Given the description of an element on the screen output the (x, y) to click on. 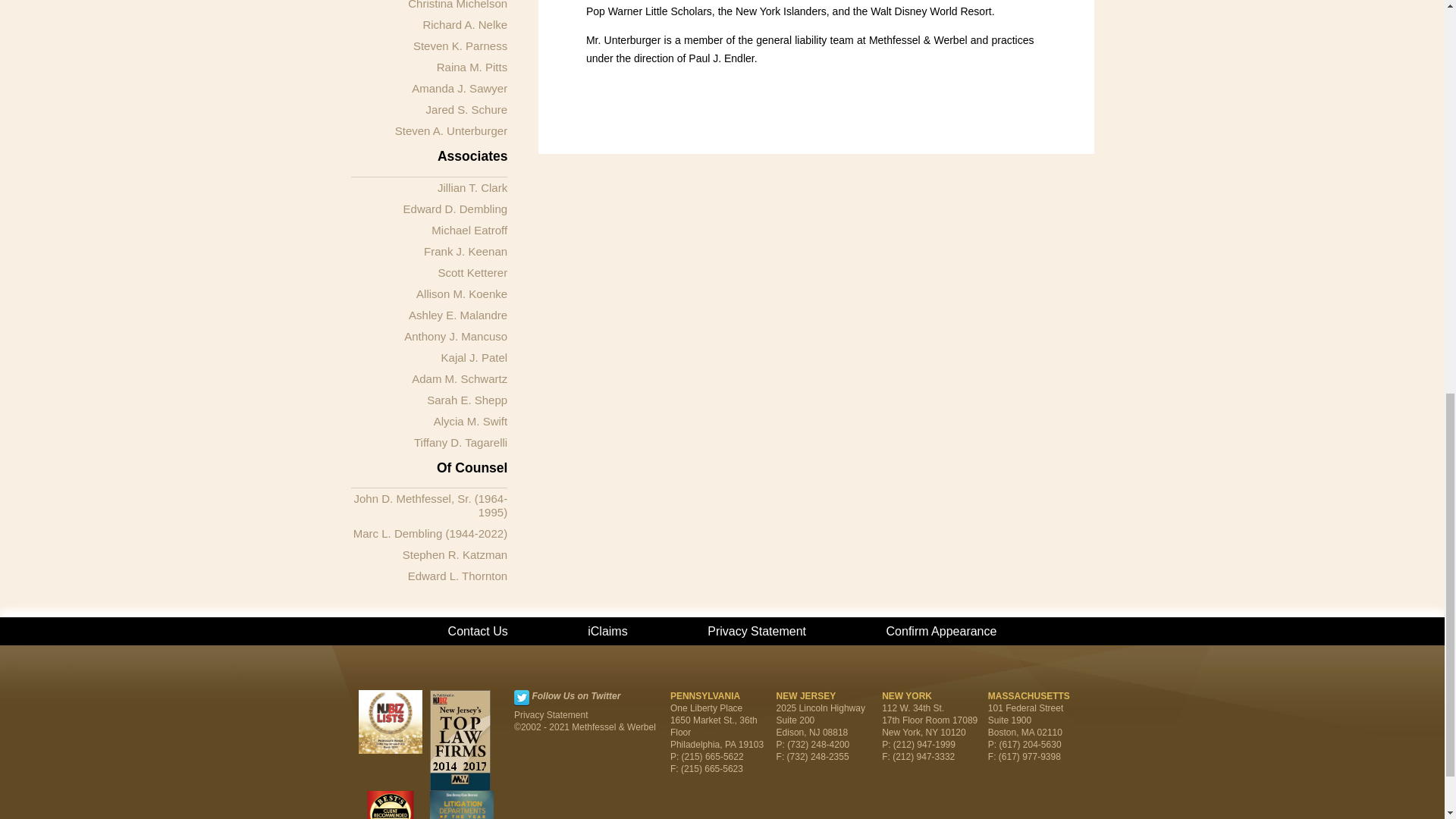
Raina M. Pitts (471, 66)
Richard A. Nelke (464, 24)
Steven K. Parness (459, 45)
Christina Michelson (456, 4)
